Given the description of an element on the screen output the (x, y) to click on. 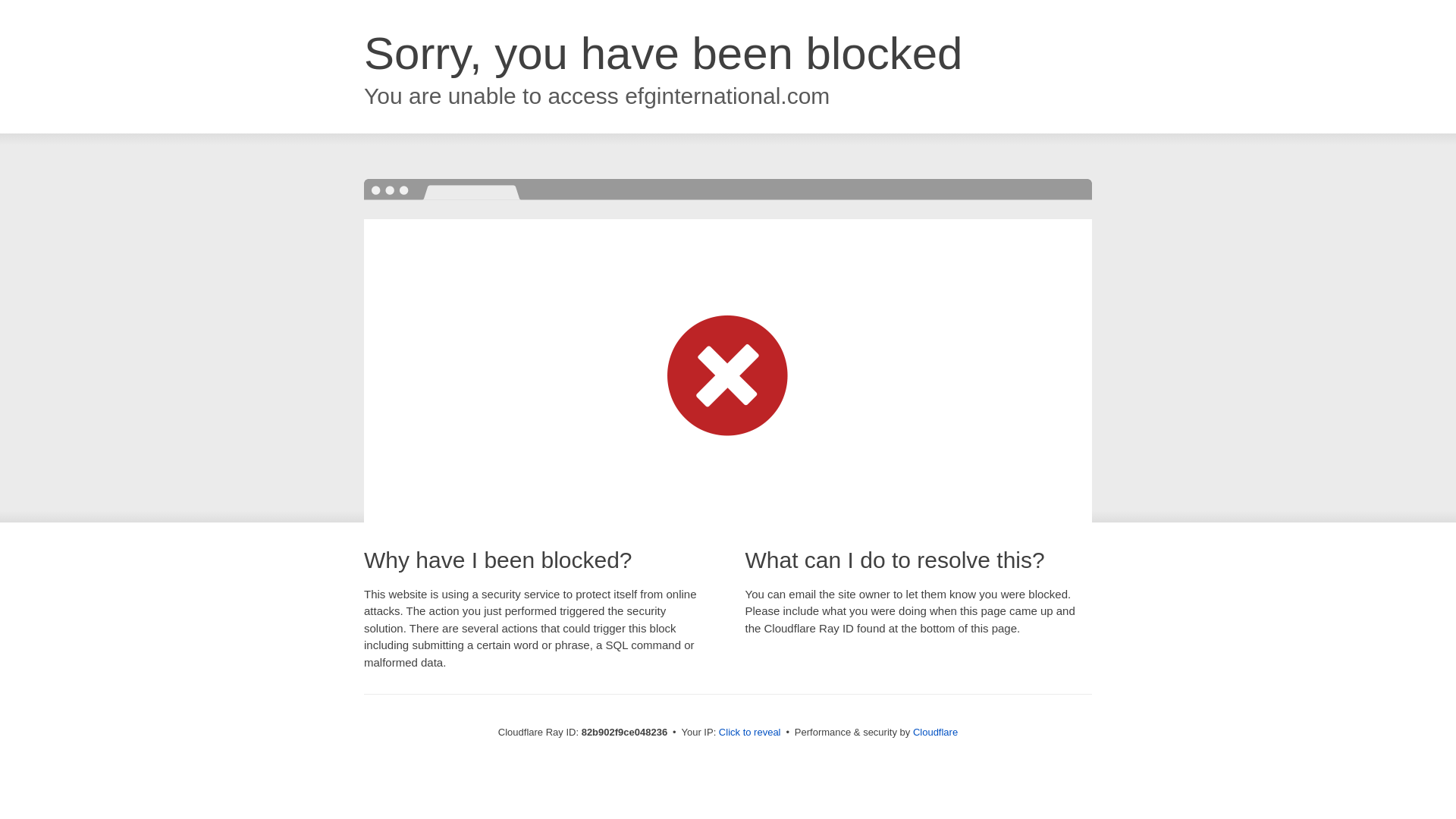
Click to reveal Element type: text (749, 732)
Cloudflare Element type: text (935, 731)
